Given the description of an element on the screen output the (x, y) to click on. 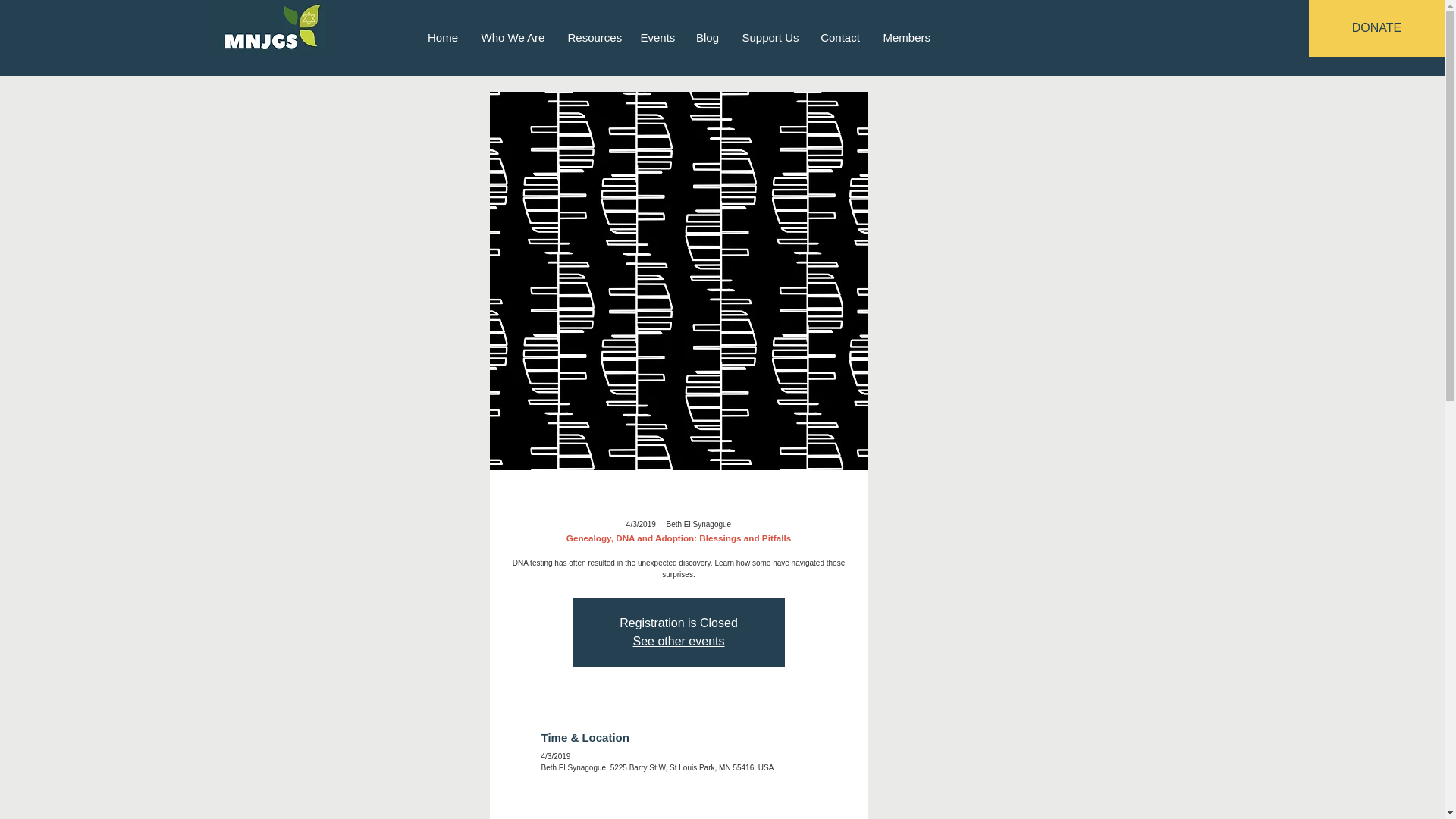
Contact (839, 37)
Events (656, 37)
Resources (592, 37)
Support Us (769, 37)
Who We Are (513, 37)
Home (441, 37)
Blog (707, 37)
See other events (679, 640)
Members (907, 37)
